Given the description of an element on the screen output the (x, y) to click on. 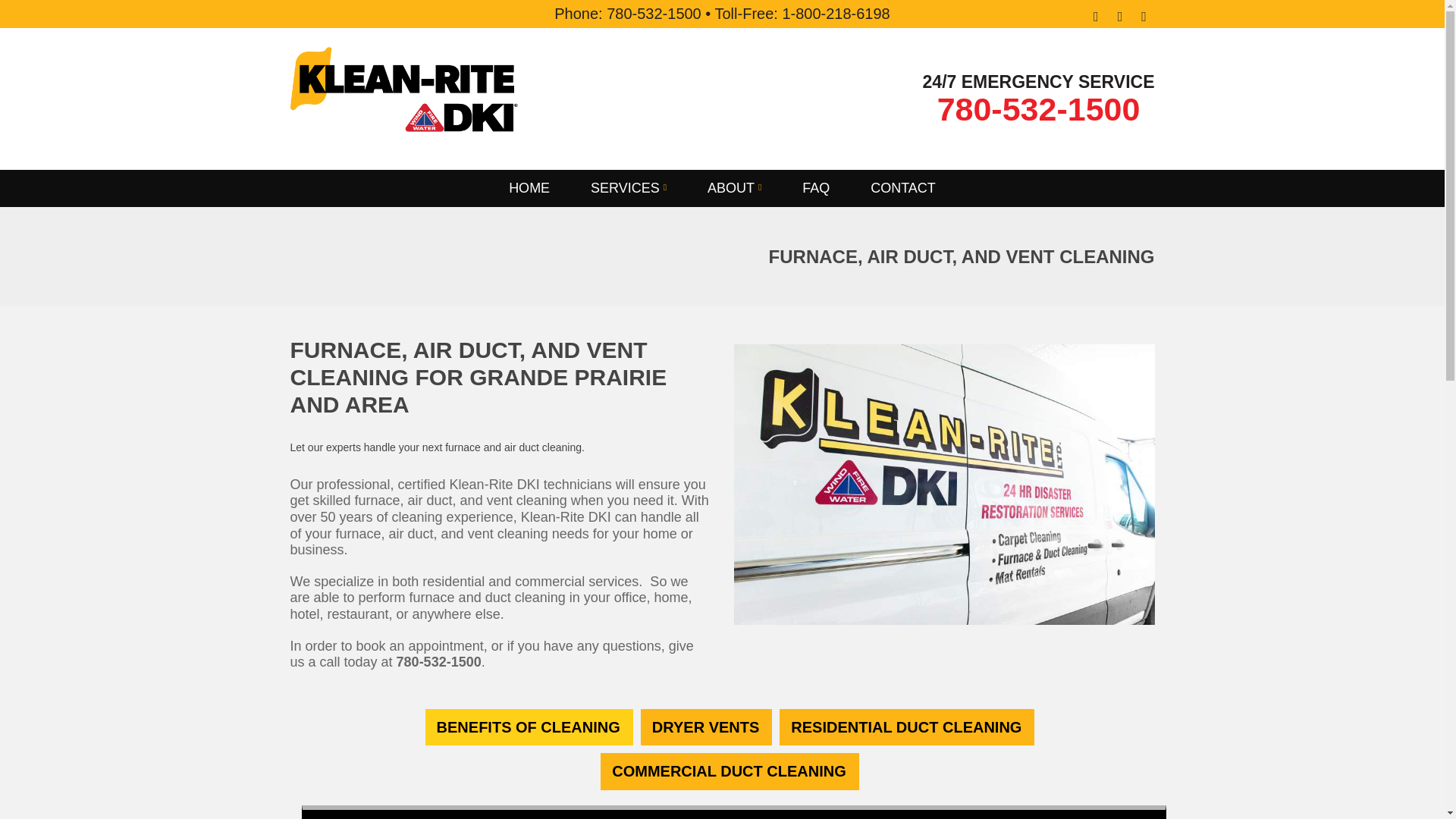
HOME (529, 187)
SERVICES (627, 188)
ABOUT (734, 188)
